Given the description of an element on the screen output the (x, y) to click on. 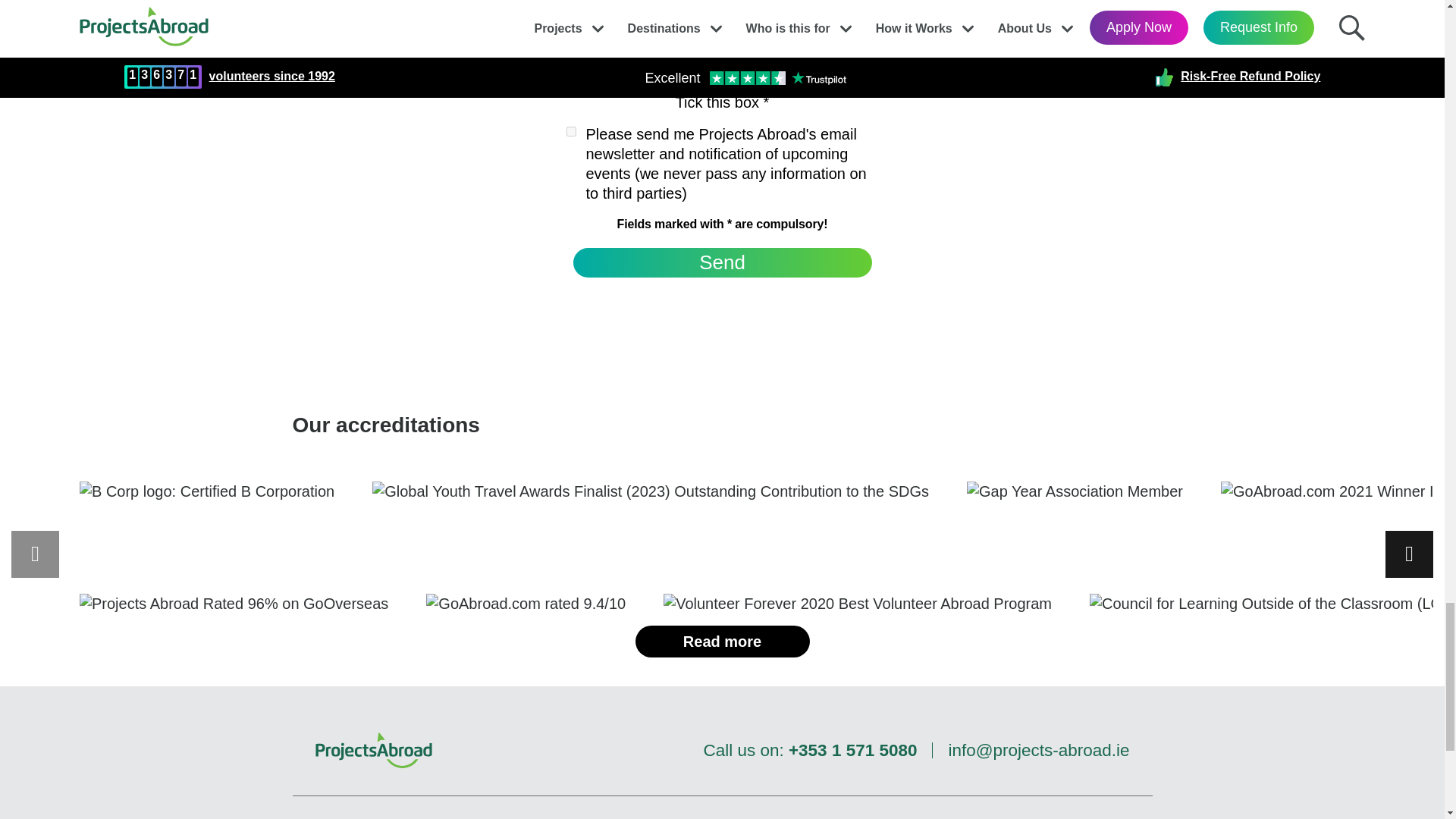
1 (570, 104)
